Given the description of an element on the screen output the (x, y) to click on. 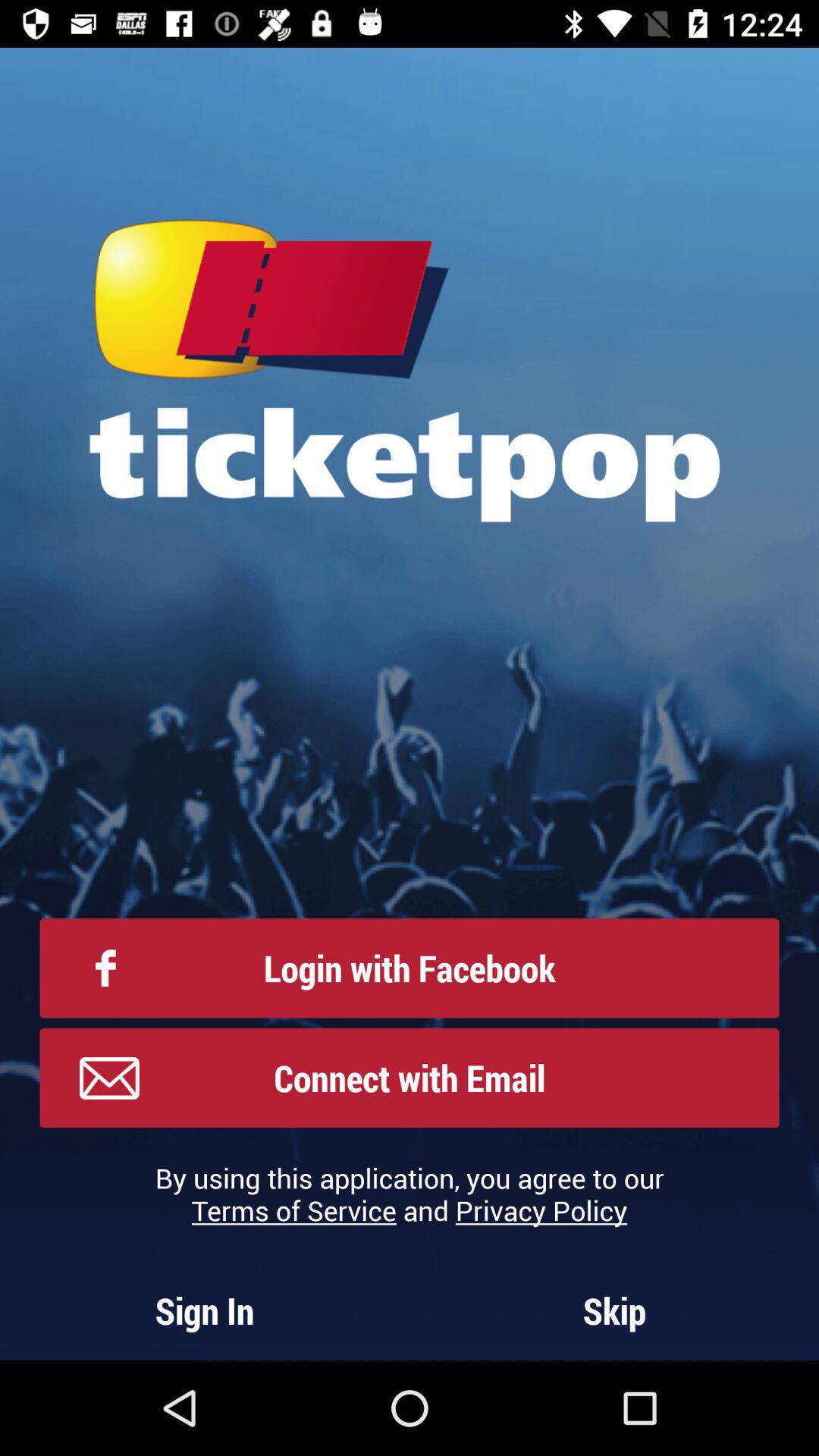
open the skip at the bottom right corner (614, 1310)
